Given the description of an element on the screen output the (x, y) to click on. 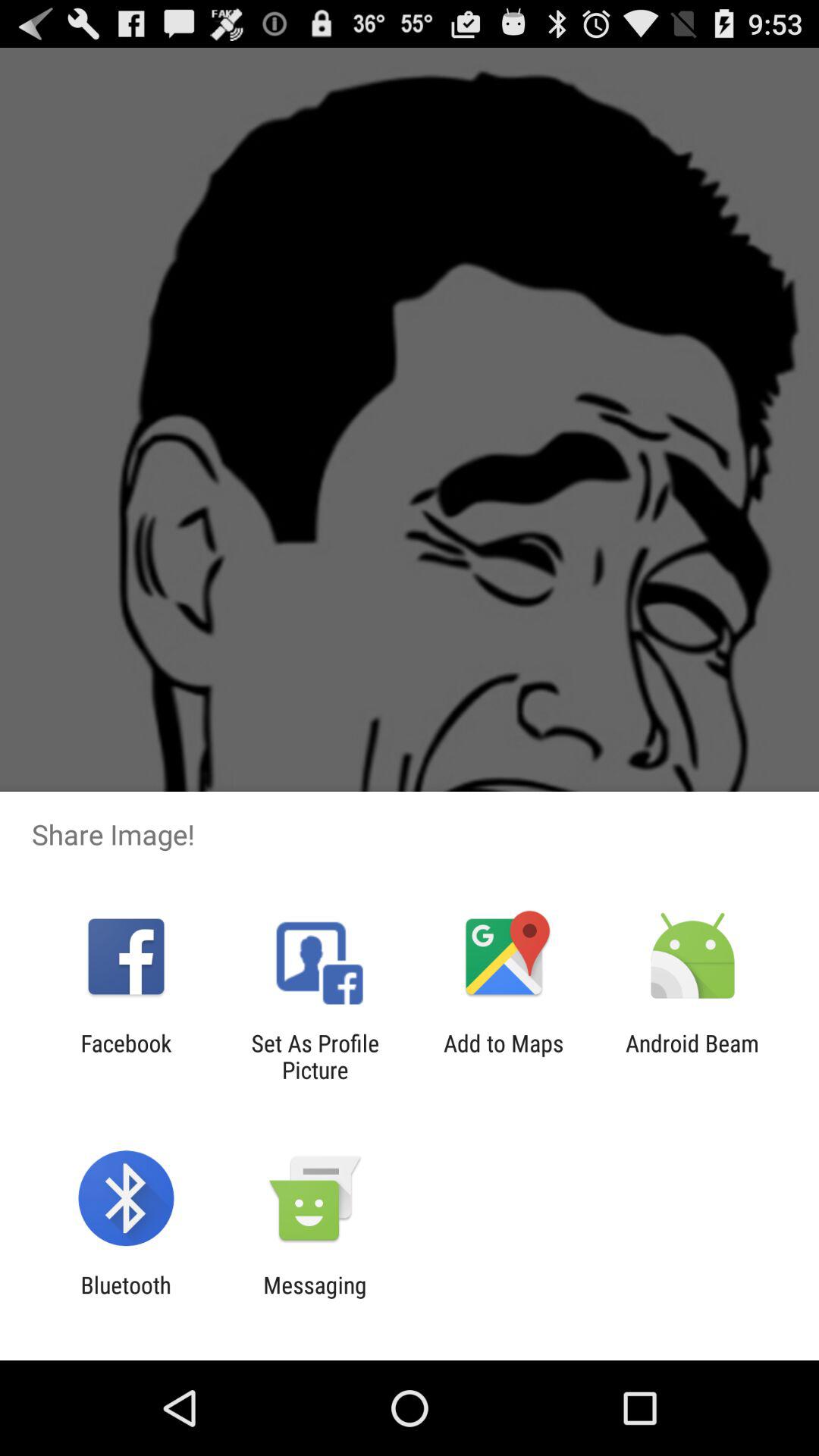
turn on the messaging (314, 1298)
